Given the description of an element on the screen output the (x, y) to click on. 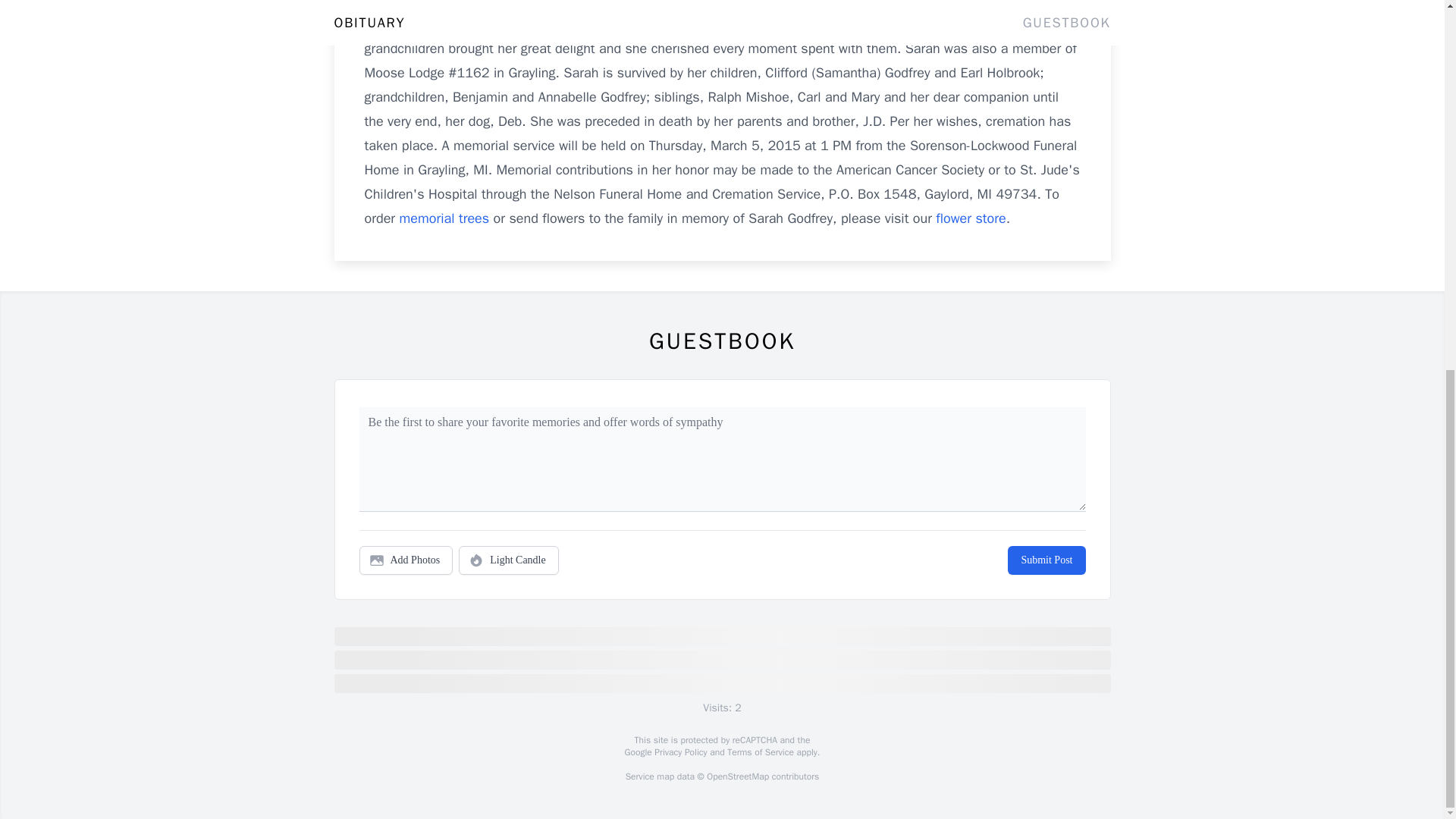
Add Photos (405, 560)
Privacy Policy (679, 752)
OpenStreetMap (737, 776)
Light Candle (508, 560)
flower store (971, 217)
Terms of Service (759, 752)
memorial trees (443, 217)
Submit Post (1045, 560)
